Given the description of an element on the screen output the (x, y) to click on. 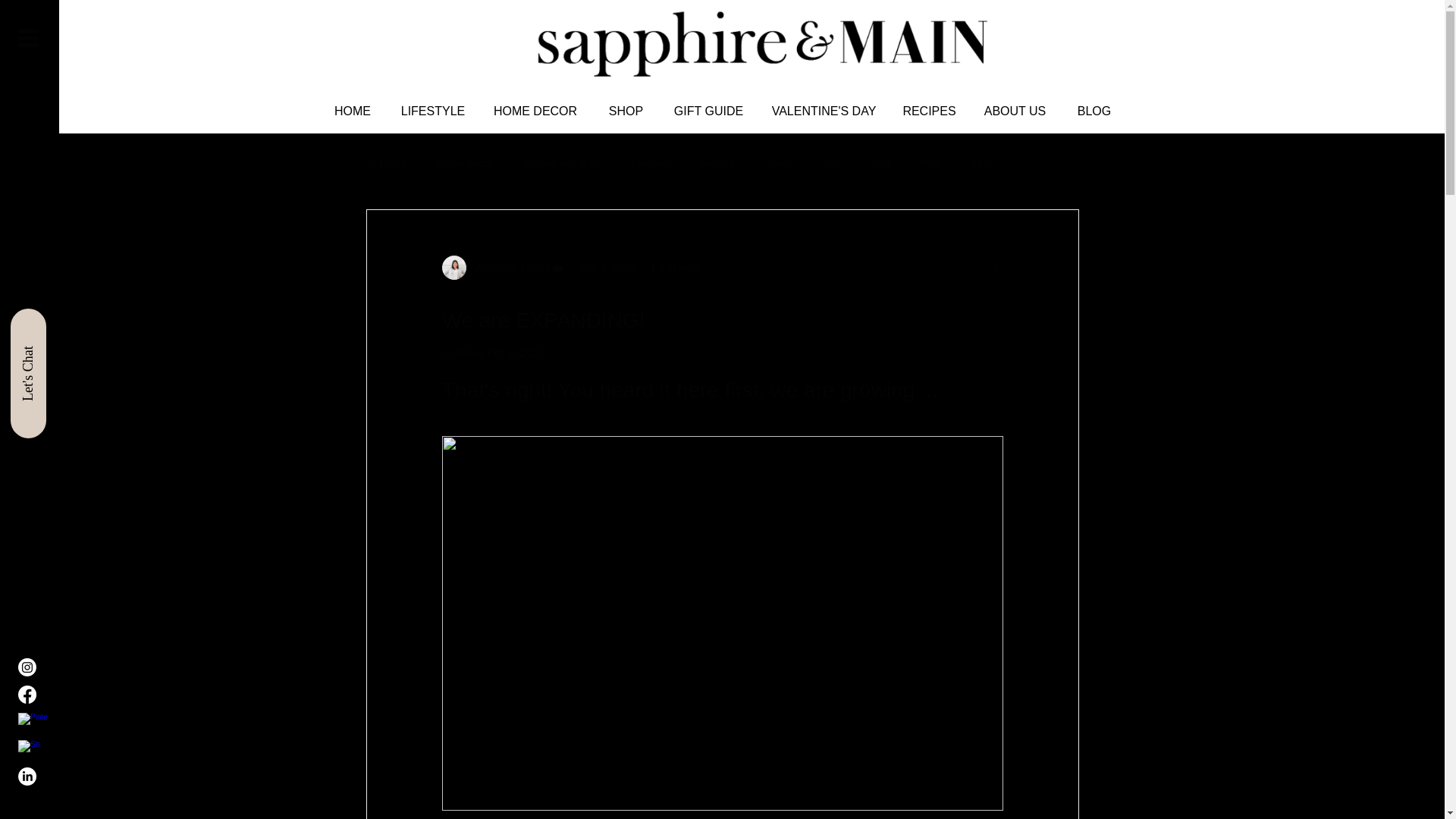
LIFESTYLE (433, 111)
SHOP (625, 111)
BLOG (1093, 111)
All Posts (385, 163)
GIFT GUIDE (708, 111)
Aug 4, 2020 (607, 266)
VALENTINE'S DAY (823, 111)
1 min read (674, 266)
Oct 9, 2020 (514, 353)
Jeannine Girard (507, 267)
RECIPES (929, 111)
HOME DECOR (534, 111)
Let's Chat (74, 325)
ABOUT US (1015, 111)
HOME (352, 111)
